Given the description of an element on the screen output the (x, y) to click on. 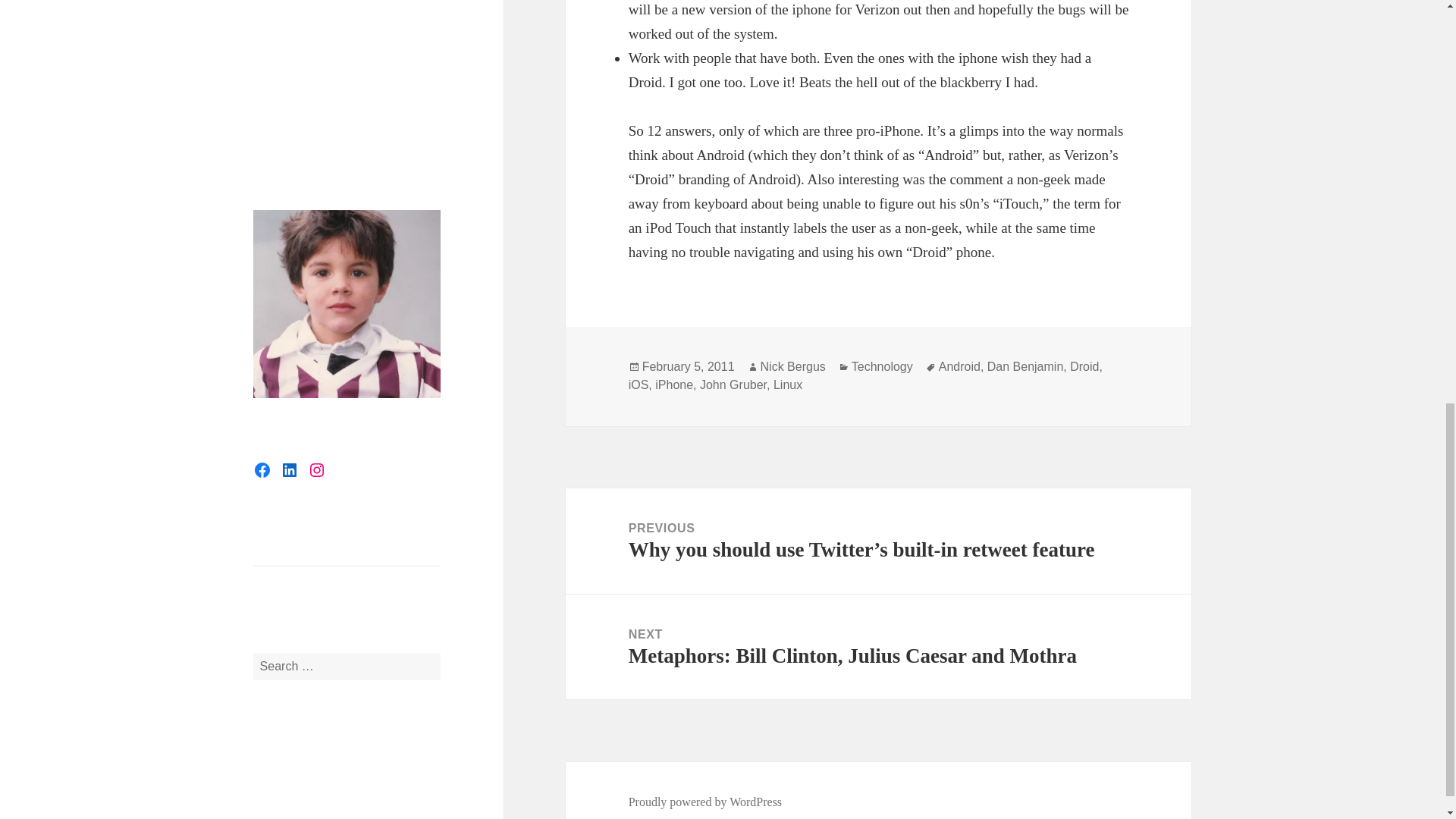
Dan Benjamin (1025, 366)
Android (959, 366)
iOS (638, 385)
iPhone (674, 385)
Nick Bergus (792, 366)
John Gruber (733, 385)
February 5, 2011 (688, 366)
Technology (881, 366)
Linux (787, 385)
Droid (1084, 366)
Proudly powered by WordPress (704, 802)
